Given the description of an element on the screen output the (x, y) to click on. 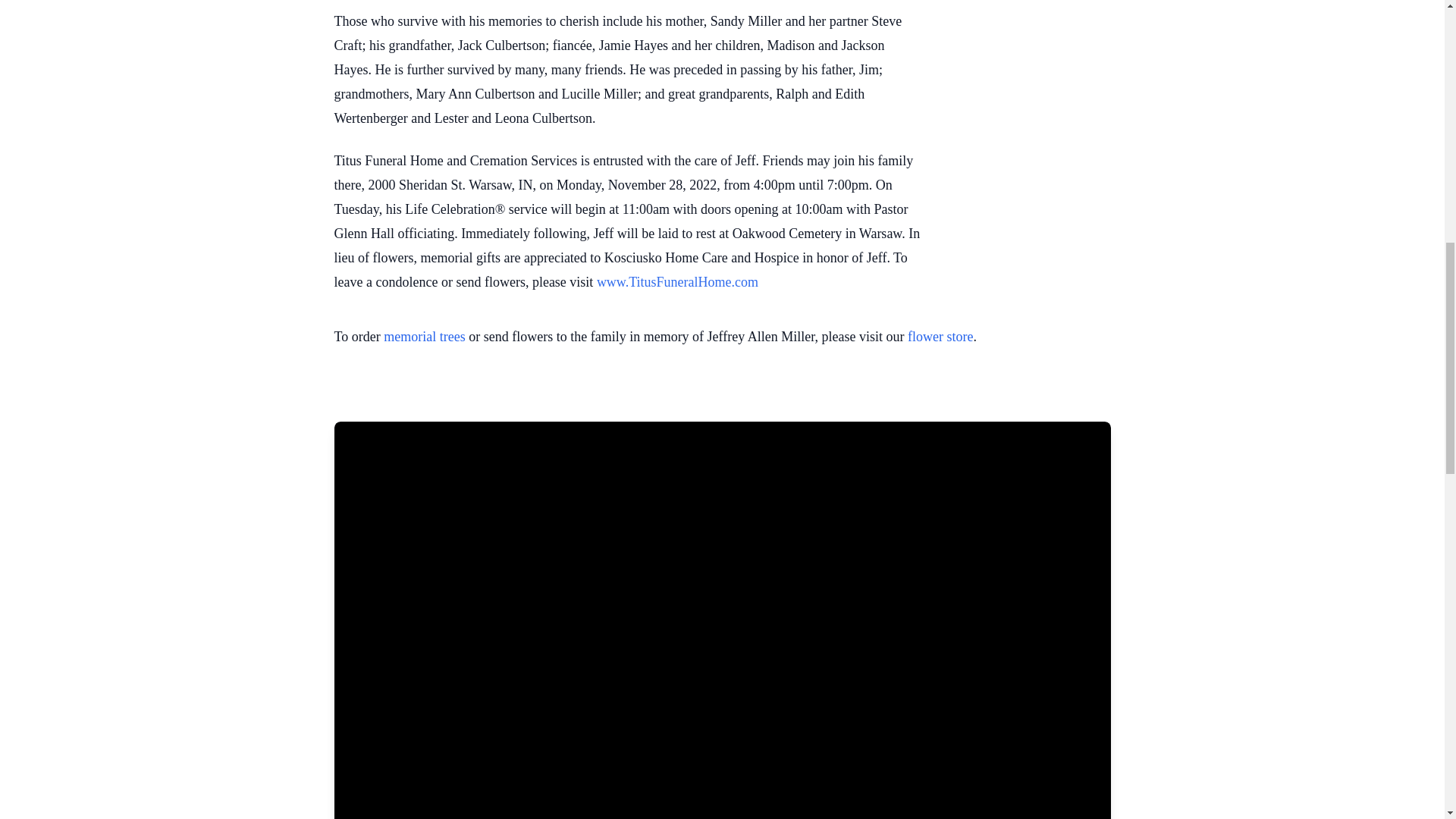
memorial trees (424, 336)
flower store (939, 336)
www.TitusFuneralHome.com (677, 281)
